Given the description of an element on the screen output the (x, y) to click on. 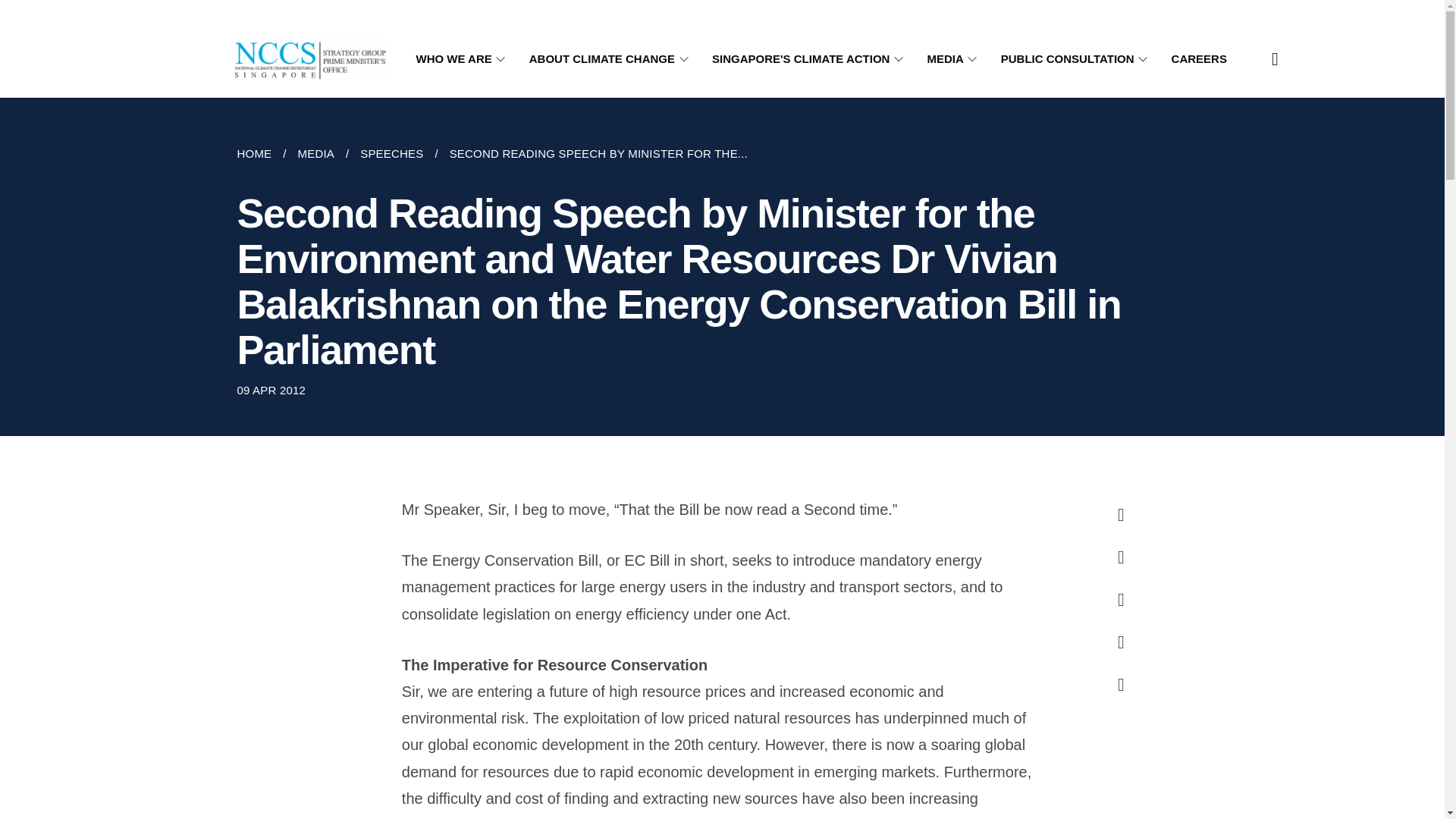
ABOUT CLIMATE CHANGE (611, 59)
SPEECHES (391, 153)
MEDIA (315, 153)
HOME (258, 153)
SECOND READING SPEECH BY MINISTER FOR THE... (598, 153)
PUBLIC CONSULTATION (1077, 59)
SINGAPORE'S CLIMATE ACTION (809, 59)
WHO WE ARE (462, 59)
